Given the description of an element on the screen output the (x, y) to click on. 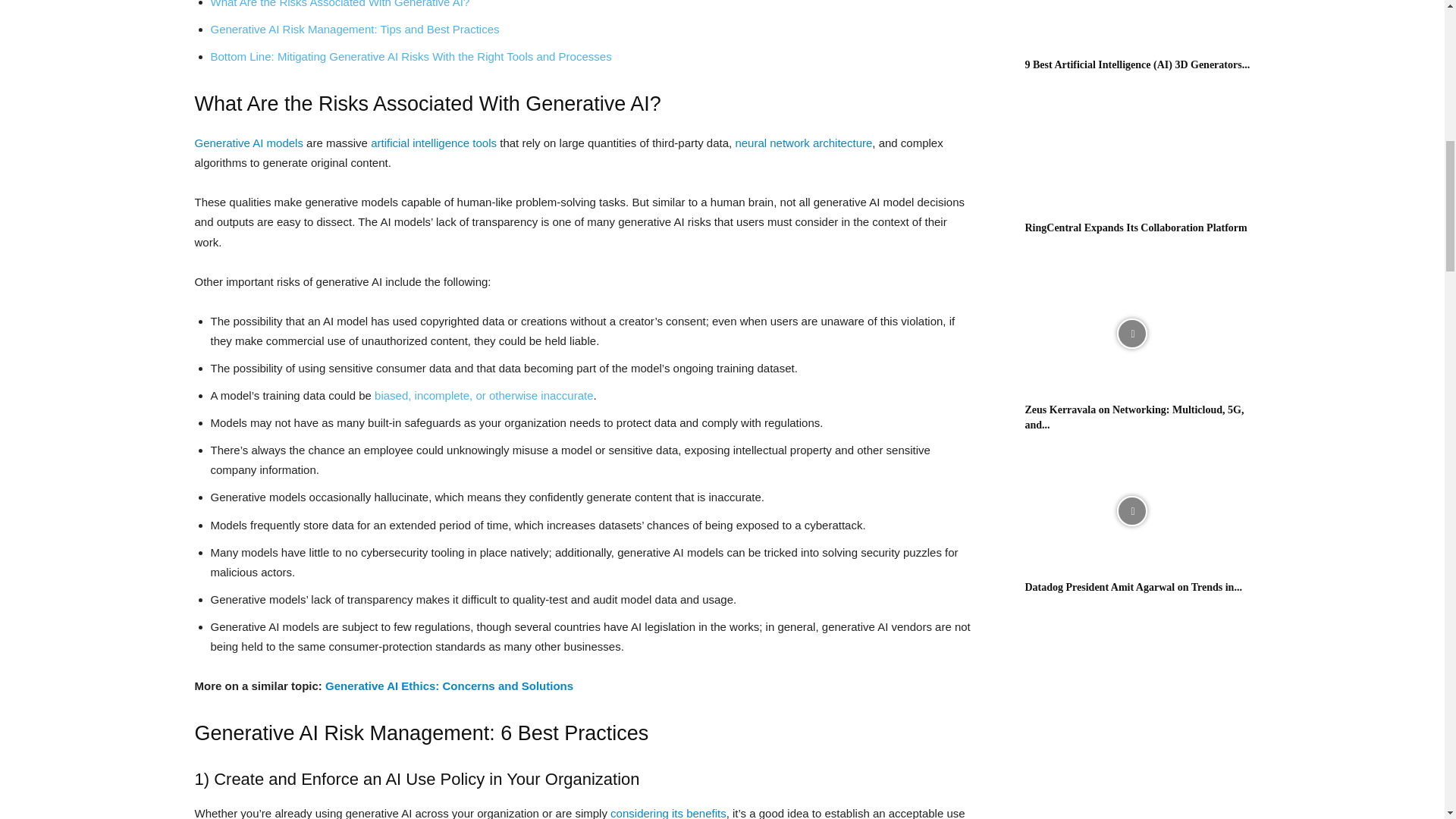
RingCentral Expands Its Collaboration Platform (1136, 227)
Zeus Kerravala on Networking: Multicloud, 5G, and Automation (1134, 417)
RingCentral Expands Its Collaboration Platform (1131, 151)
Zeus Kerravala on Networking: Multicloud, 5G, and Automation (1131, 333)
